Given the description of an element on the screen output the (x, y) to click on. 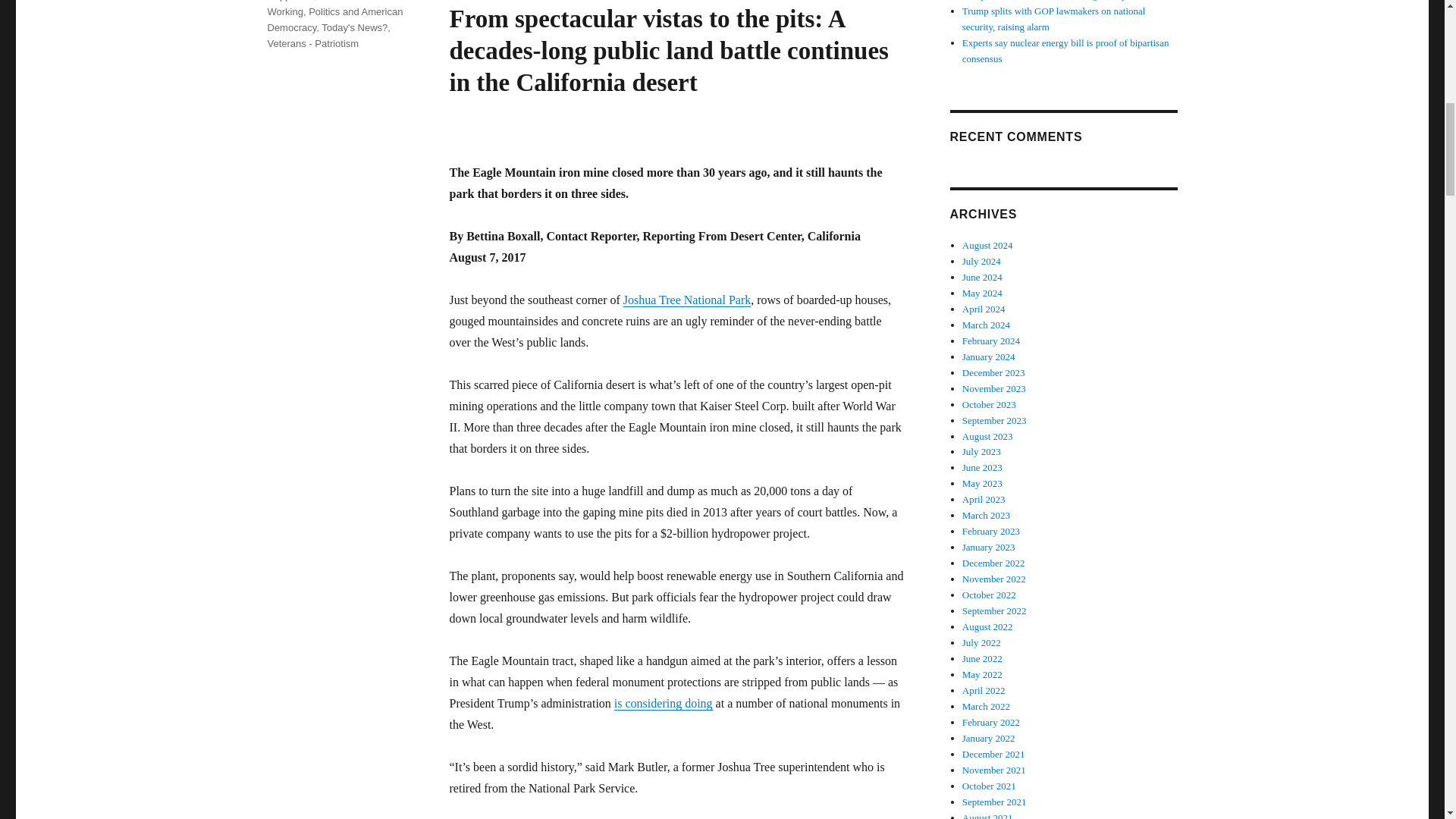
Joshua Tree National Park (687, 299)
November 2023 (994, 388)
April 2024 (984, 308)
June 2024 (982, 276)
Health - Happiness (314, 0)
December 2023 (993, 372)
August 2024 (987, 244)
Politics and American Democracy (334, 19)
Today's News? (354, 27)
